Given the description of an element on the screen output the (x, y) to click on. 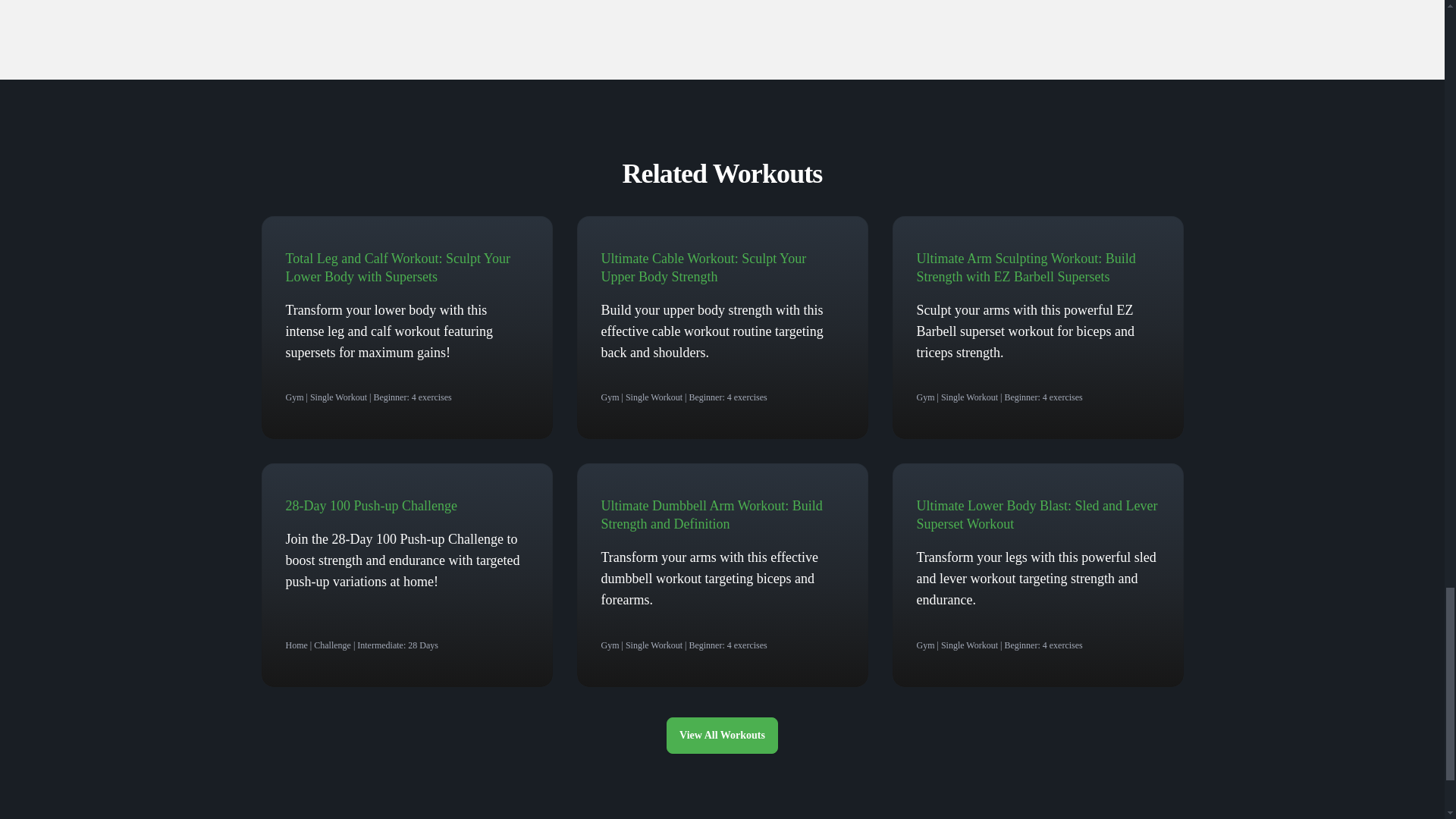
Ultimate Lower Body Blast: Sled and Lever Superset Workout (1036, 514)
28-Day 100 Push-up Challenge (371, 505)
Ultimate Dumbbell Arm Workout: Build Strength and Definition (710, 514)
View All Workouts (721, 735)
Ultimate Cable Workout: Sculpt Your Upper Body Strength (702, 267)
